Given the description of an element on the screen output the (x, y) to click on. 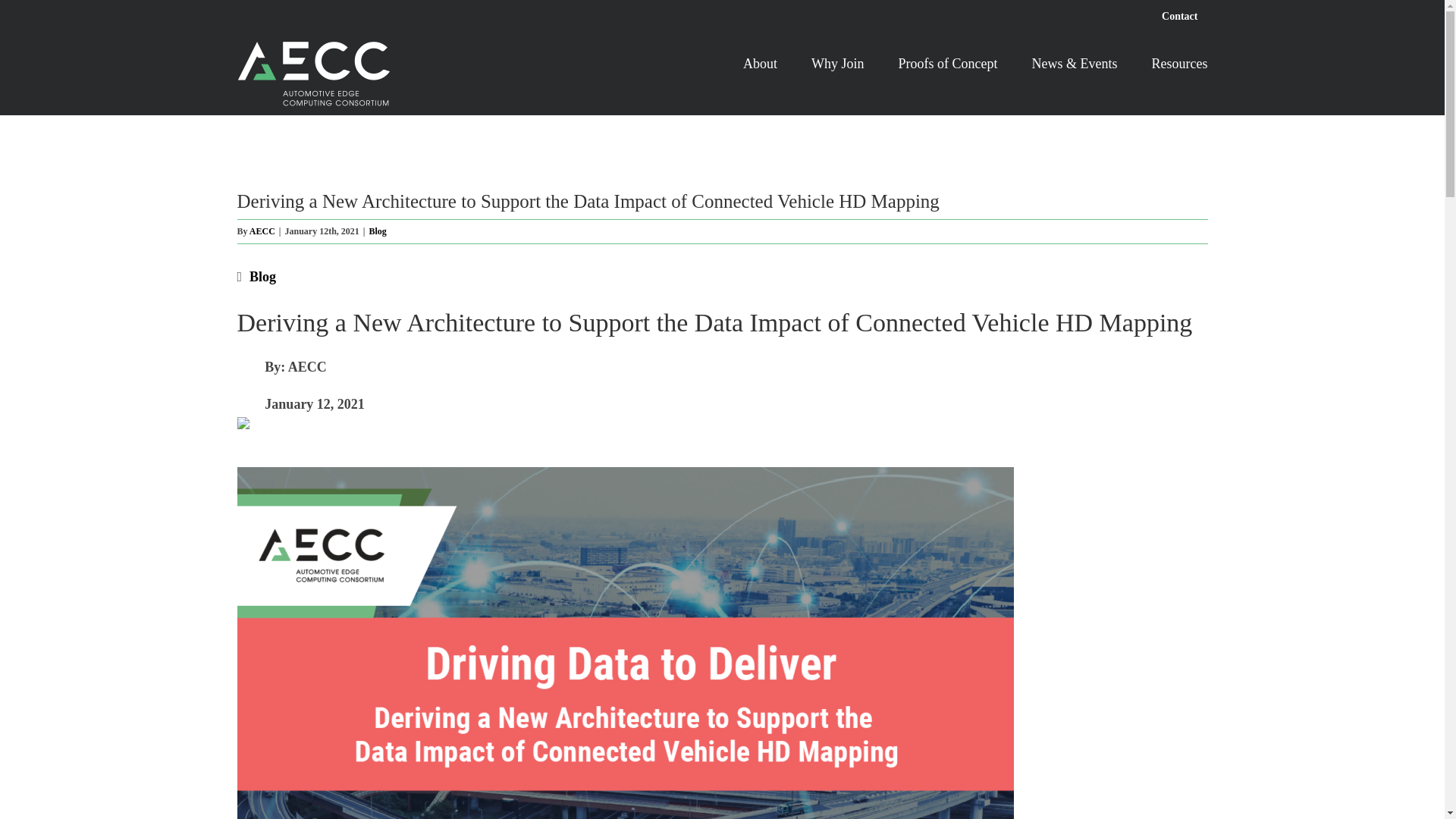
Contact (1179, 16)
Proofs of Concept (947, 62)
Blog (262, 276)
Why Join (837, 62)
Posts by AECC (261, 231)
Resources (1179, 62)
Blog (378, 231)
AECC (261, 231)
